Given the description of an element on the screen output the (x, y) to click on. 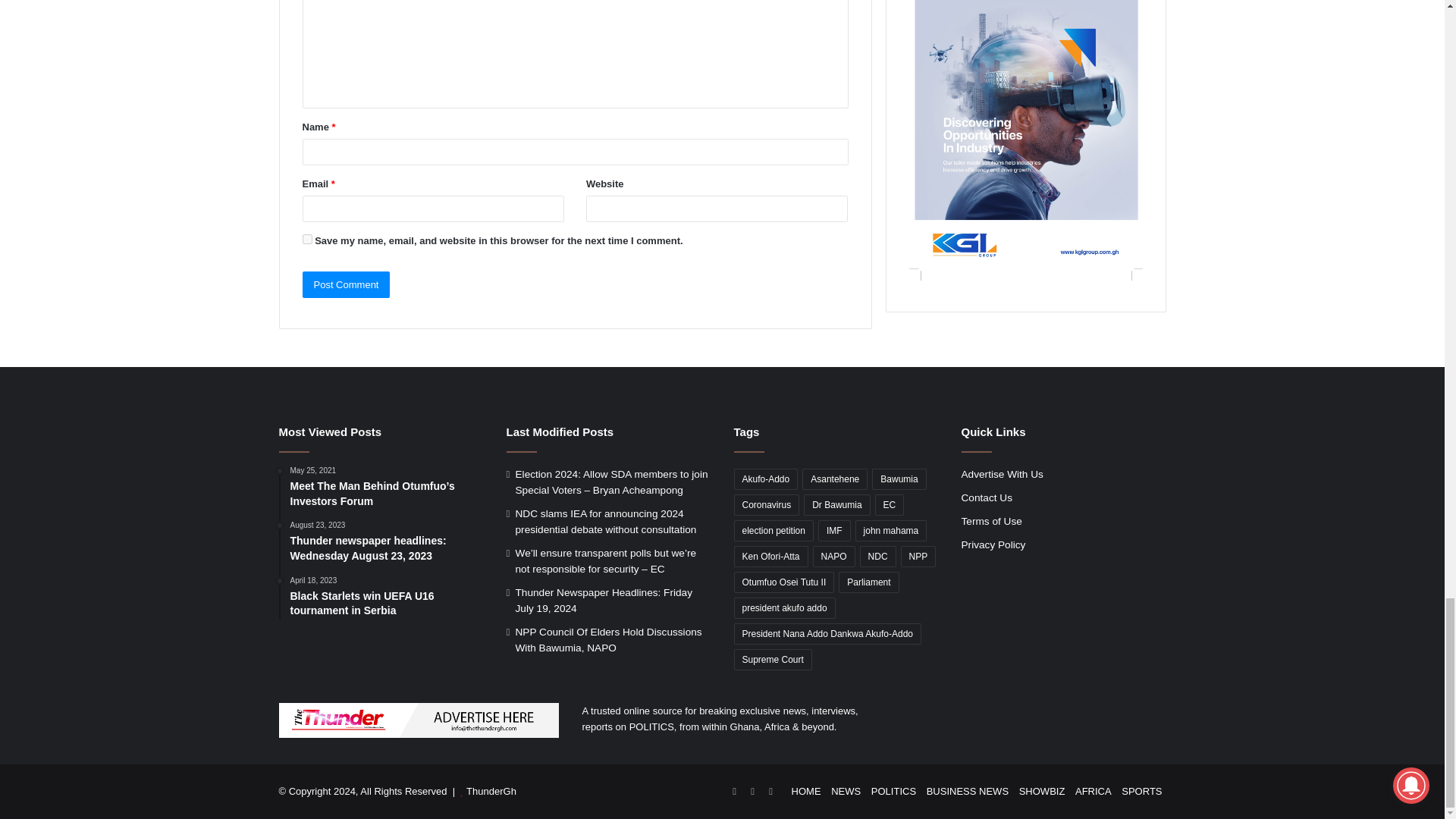
Post Comment (345, 284)
yes (306, 239)
